Given the description of an element on the screen output the (x, y) to click on. 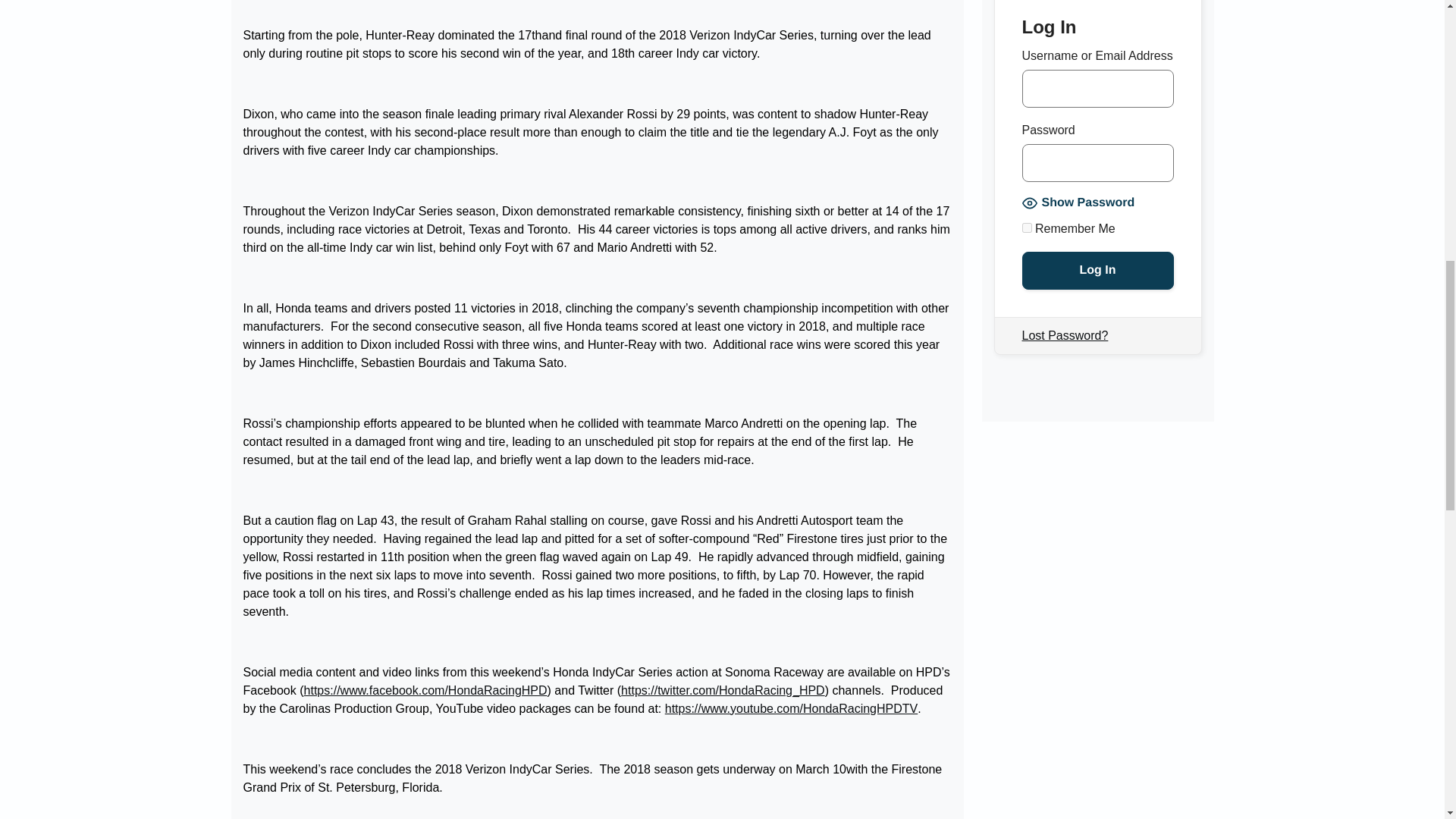
Log In (1097, 270)
forever (1027, 227)
Log In (1097, 270)
Show Password (1078, 202)
Lost Password? (1065, 335)
